Given the description of an element on the screen output the (x, y) to click on. 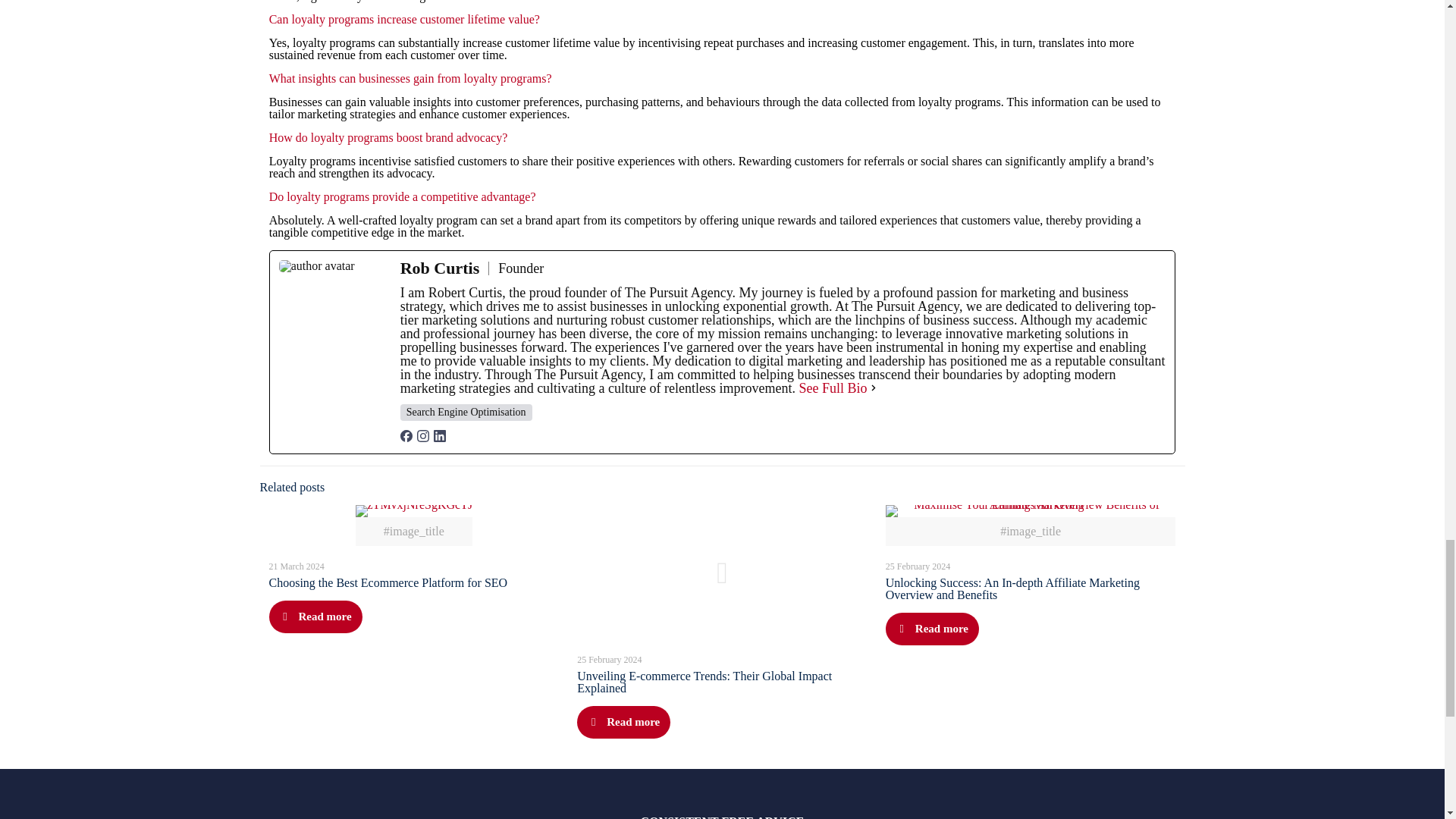
Read more (931, 628)
7z0tmvxj7n7r2esgkgctj the pursuit agency (413, 510)
Unveiling E-commerce Trends: Their Global Impact Explained (703, 681)
Read more (314, 616)
Choosing the Best Ecommerce Platform for SEO (386, 582)
Read more (622, 721)
See Full Bio (833, 387)
